Given the description of an element on the screen output the (x, y) to click on. 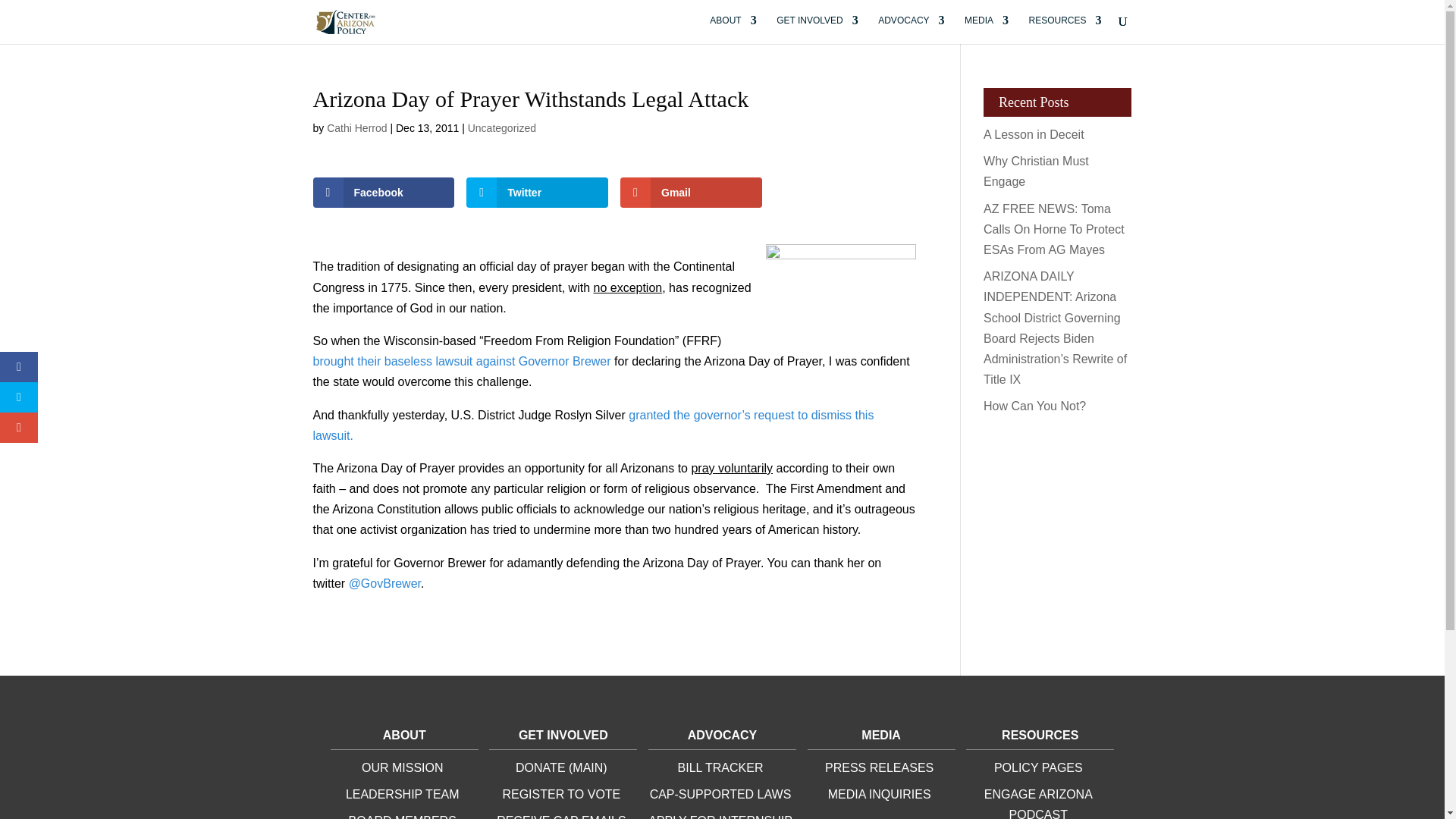
MEDIA (986, 29)
ABOUT (732, 29)
gavel (840, 293)
Posts by Cathi Herrod (356, 128)
RESOURCES (1063, 29)
GET INVOLVED (817, 29)
ADVOCACY (910, 29)
